Given the description of an element on the screen output the (x, y) to click on. 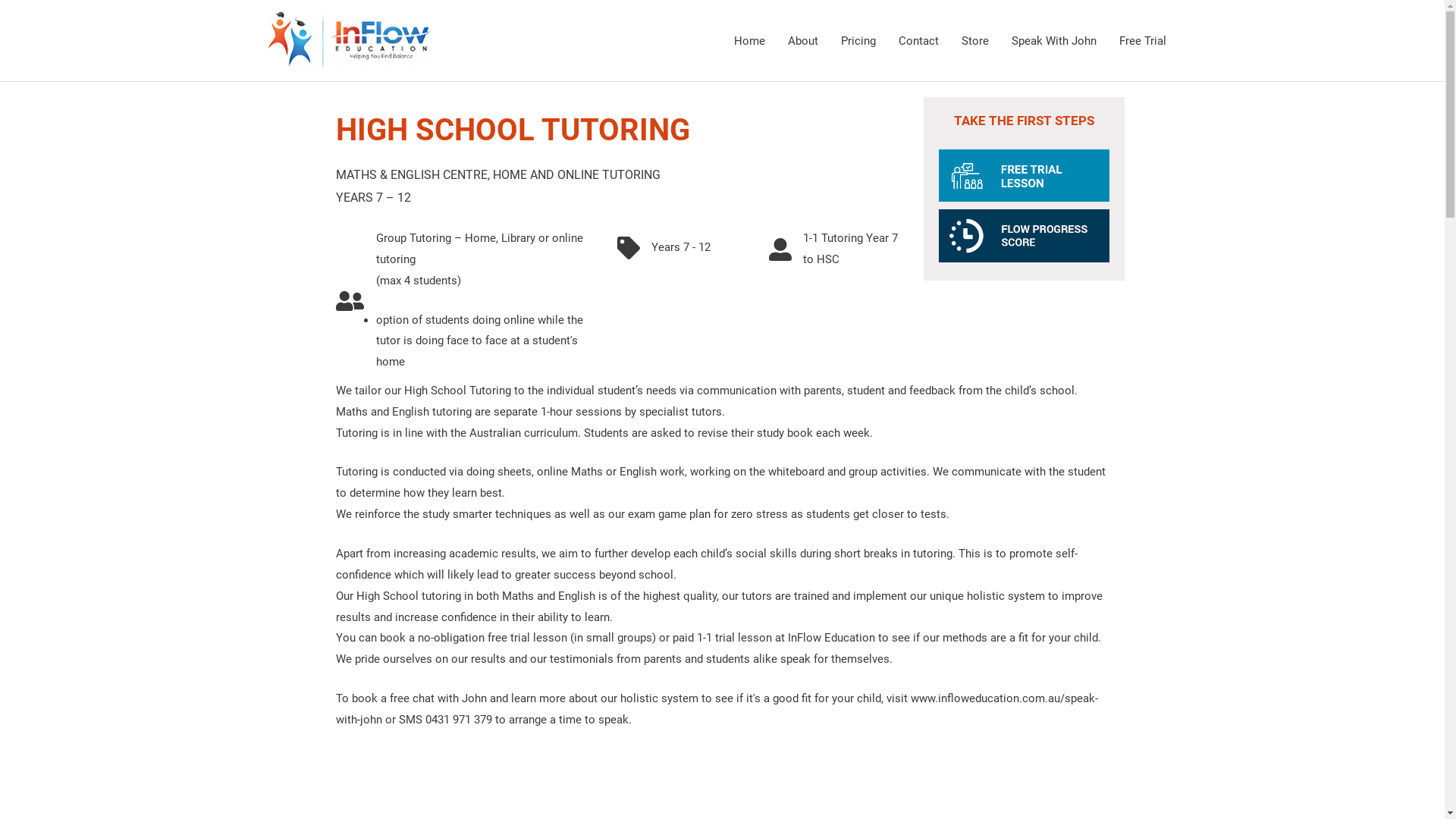
Home Element type: text (748, 40)
freeclass Element type: hover (1023, 175)
Store Element type: text (974, 40)
flow-progress-icon-1 Element type: hover (1023, 235)
Free Trial Element type: text (1141, 40)
Pricing Element type: text (858, 40)
Contact Element type: text (918, 40)
Speak With John Element type: text (1053, 40)
About Element type: text (802, 40)
